Given the description of an element on the screen output the (x, y) to click on. 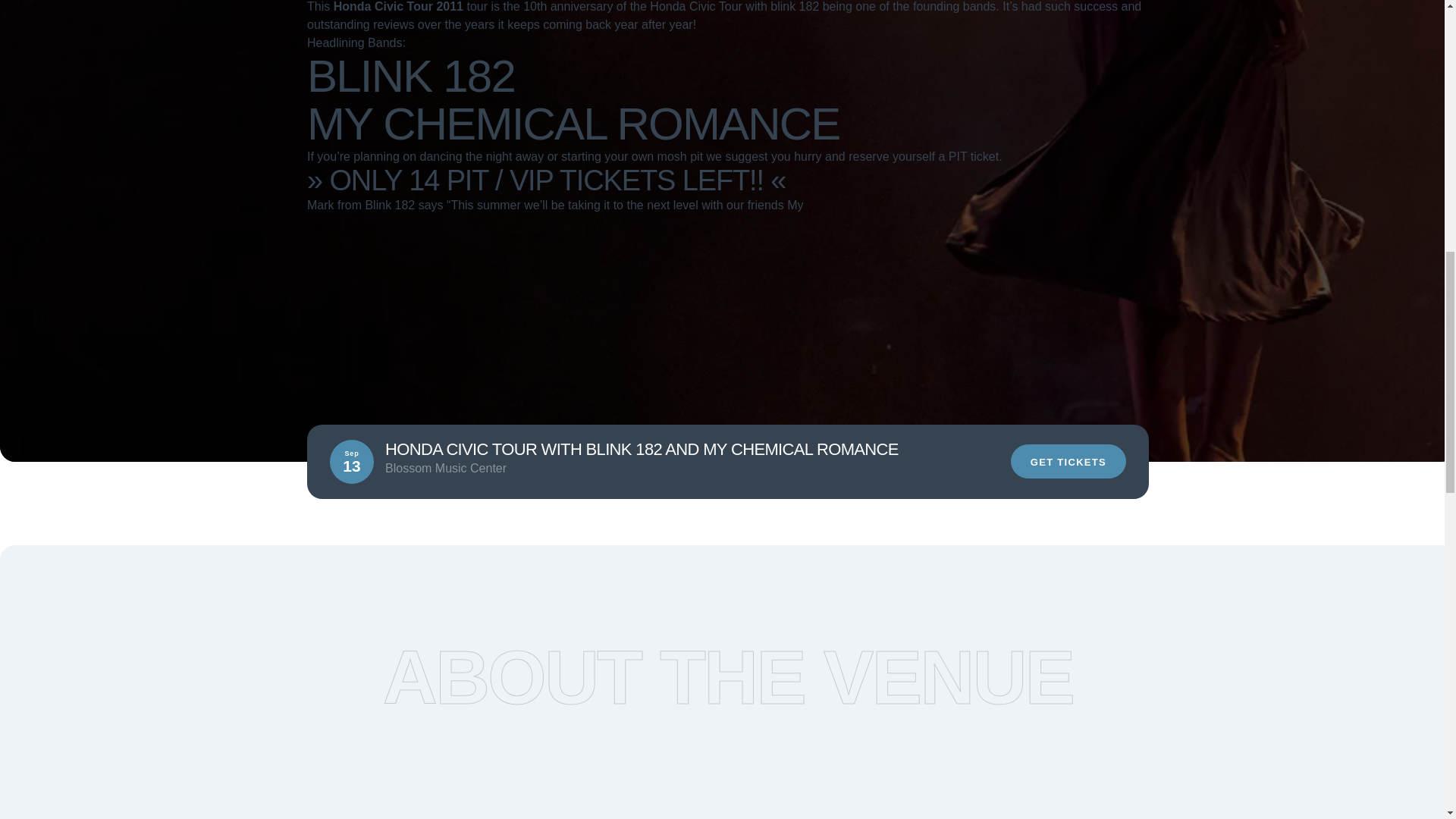
venue map (905, 760)
Archive (477, 462)
2011 (533, 462)
Blossom Music Center (375, 462)
GET TICKETS (1067, 461)
September (597, 462)
